Given the description of an element on the screen output the (x, y) to click on. 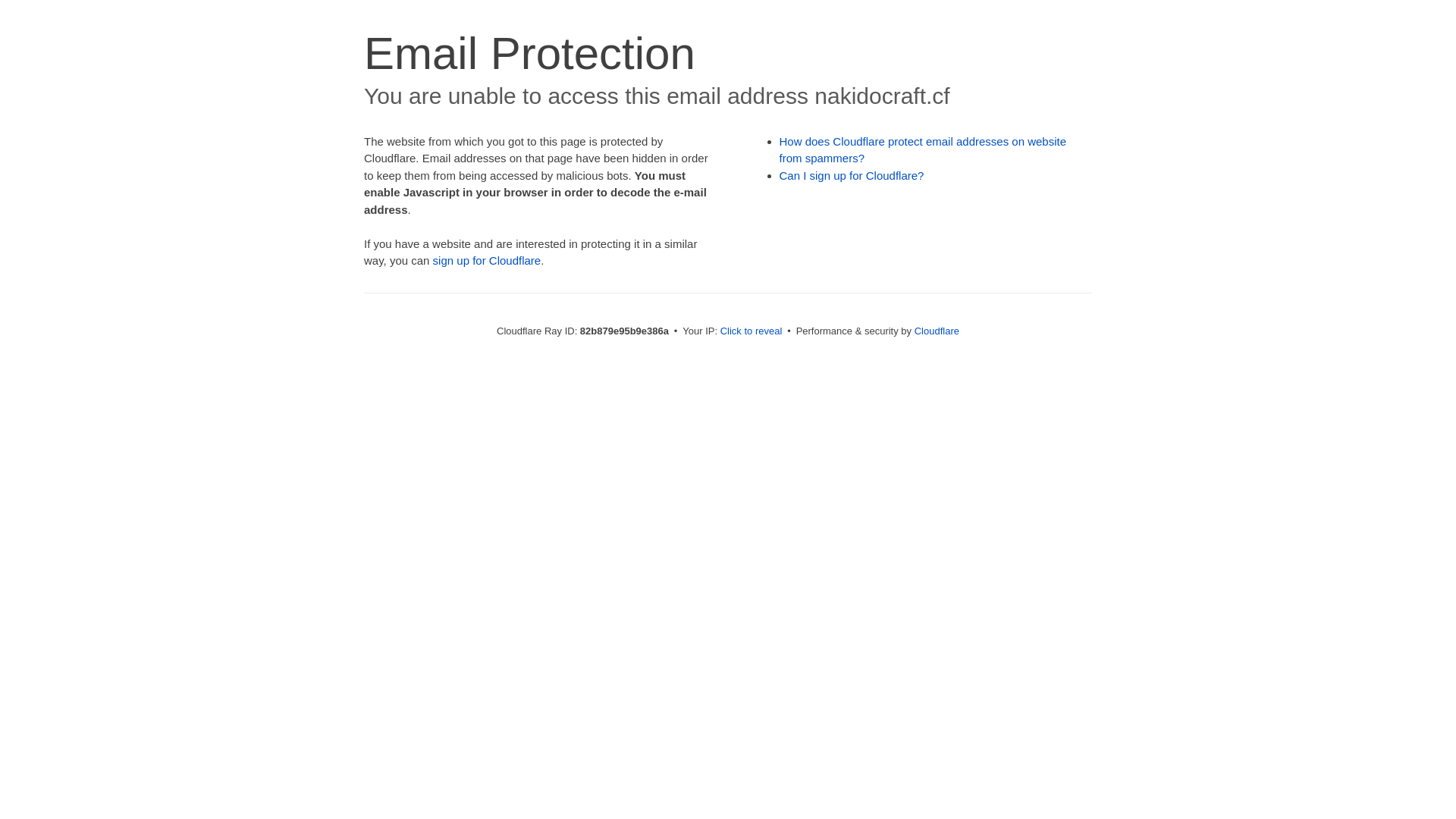
Cloudflare Element type: text (936, 330)
Click to reveal Element type: text (751, 330)
sign up for Cloudflare Element type: text (487, 260)
Can I sign up for Cloudflare? Element type: text (851, 175)
